Given the description of an element on the screen output the (x, y) to click on. 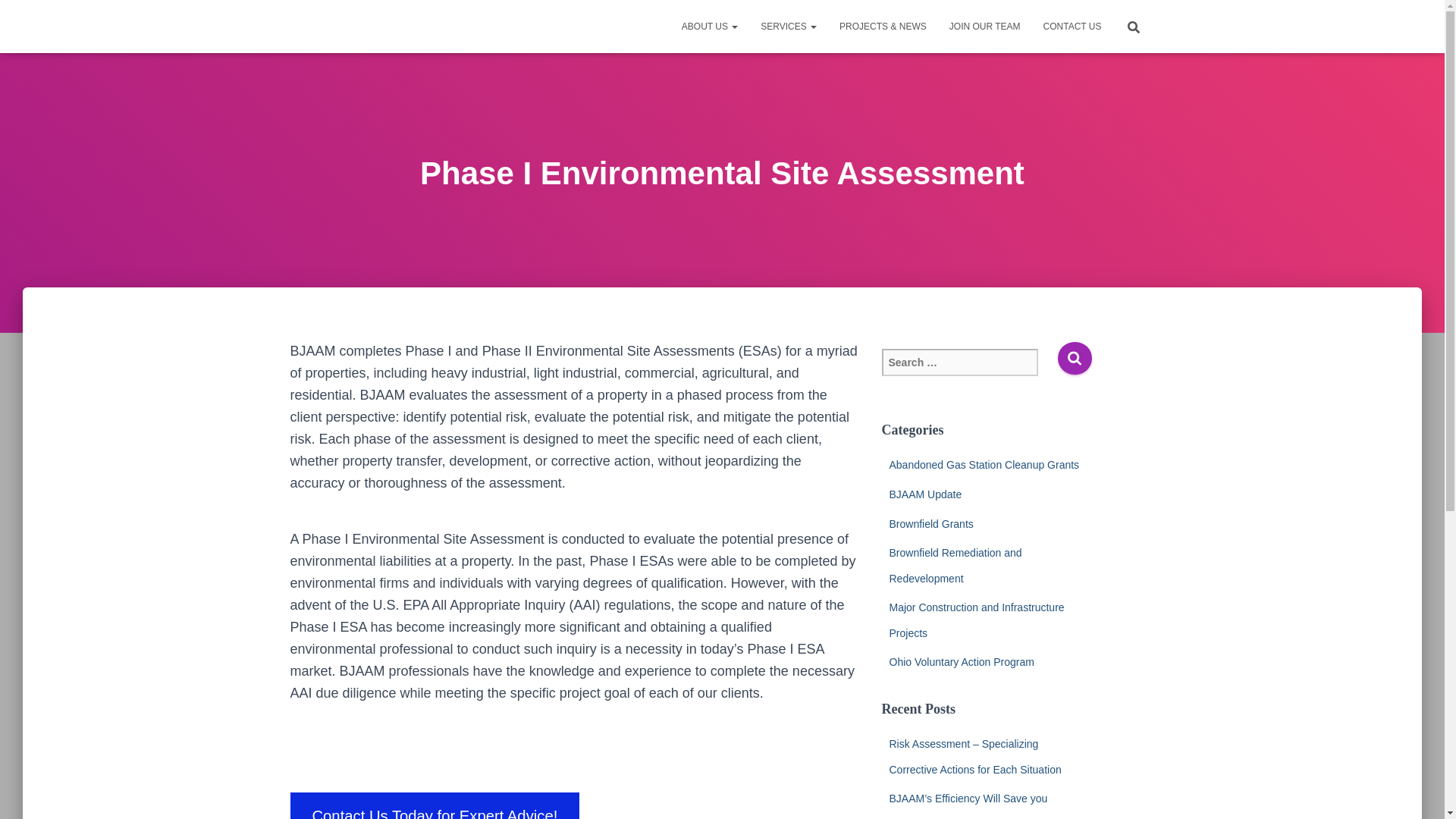
Search (1073, 358)
Search (16, 16)
JOIN OUR TEAM (984, 26)
About Us (709, 26)
Major Construction and Infrastructure Projects (976, 620)
SERVICES (788, 26)
Contact Us Today for Expert Advice! (434, 805)
Brownfield Remediation and Redevelopment (955, 565)
Ohio Voluntary Action Program (960, 662)
